Given the description of an element on the screen output the (x, y) to click on. 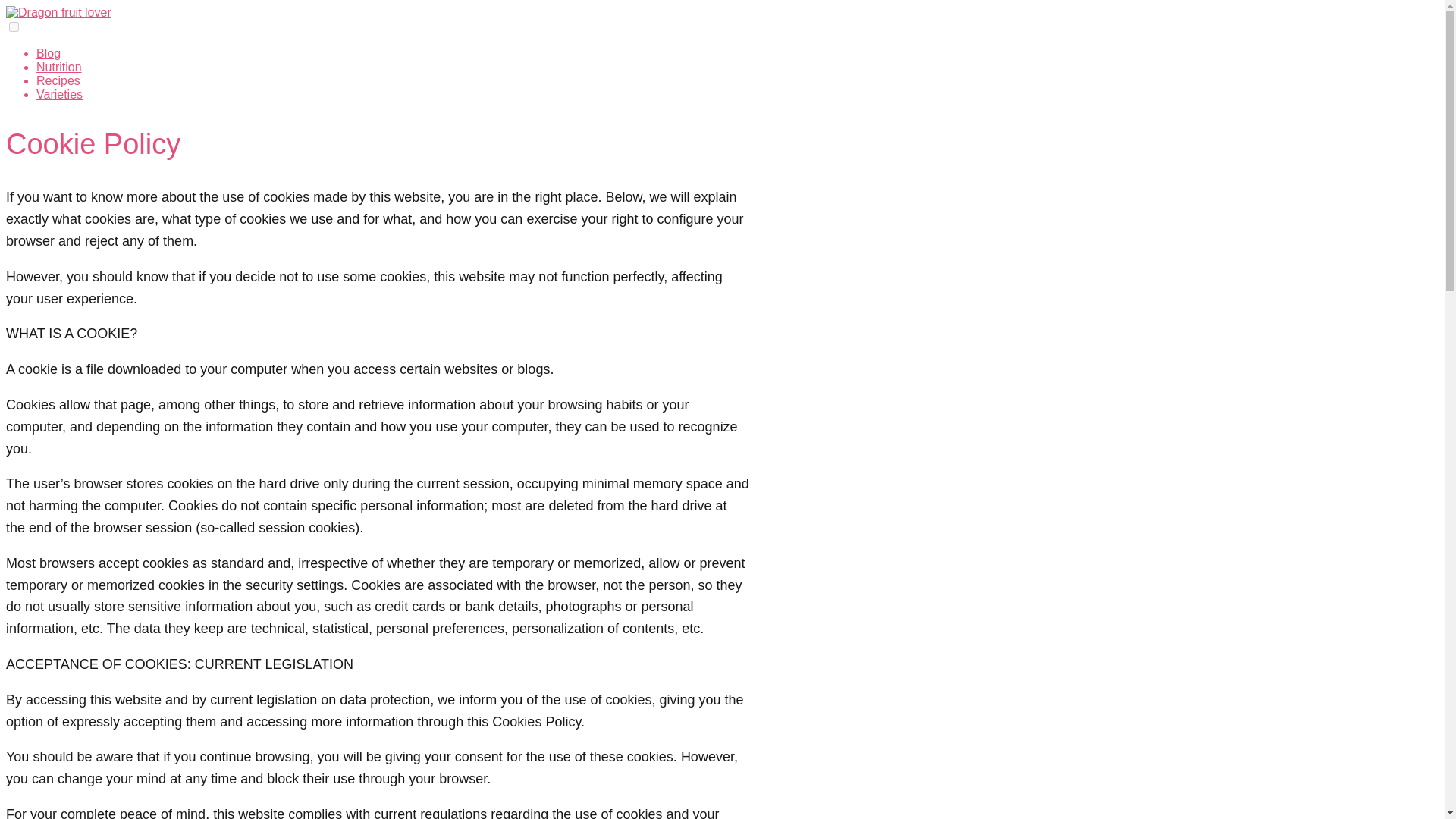
Varieties (59, 93)
Recipes (58, 80)
Nutrition (58, 66)
on (13, 26)
Blog (48, 52)
